Given the description of an element on the screen output the (x, y) to click on. 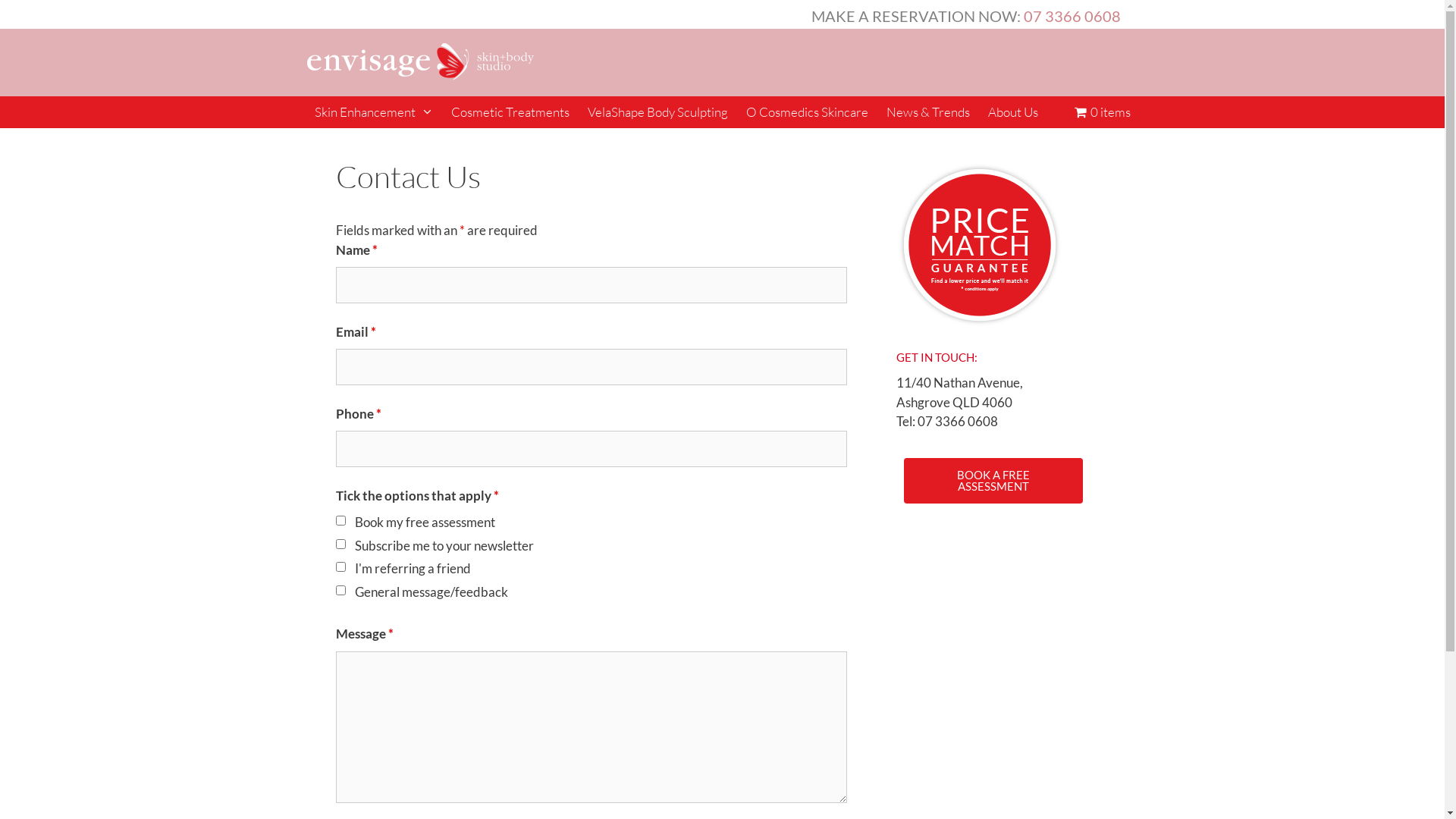
0 items Element type: text (1102, 112)
O Cosmedics Skincare Element type: text (807, 112)
Cosmetic Treatments Element type: text (510, 112)
About Us Element type: text (1013, 112)
News & Trends Element type: text (928, 112)
Skin Enhancement Element type: text (373, 112)
07 3366 0608 Element type: text (1071, 15)
BOOK A FREE ASSESSMENT Element type: text (992, 480)
VelaShape Body Sculpting Element type: text (657, 112)
